Given the description of an element on the screen output the (x, y) to click on. 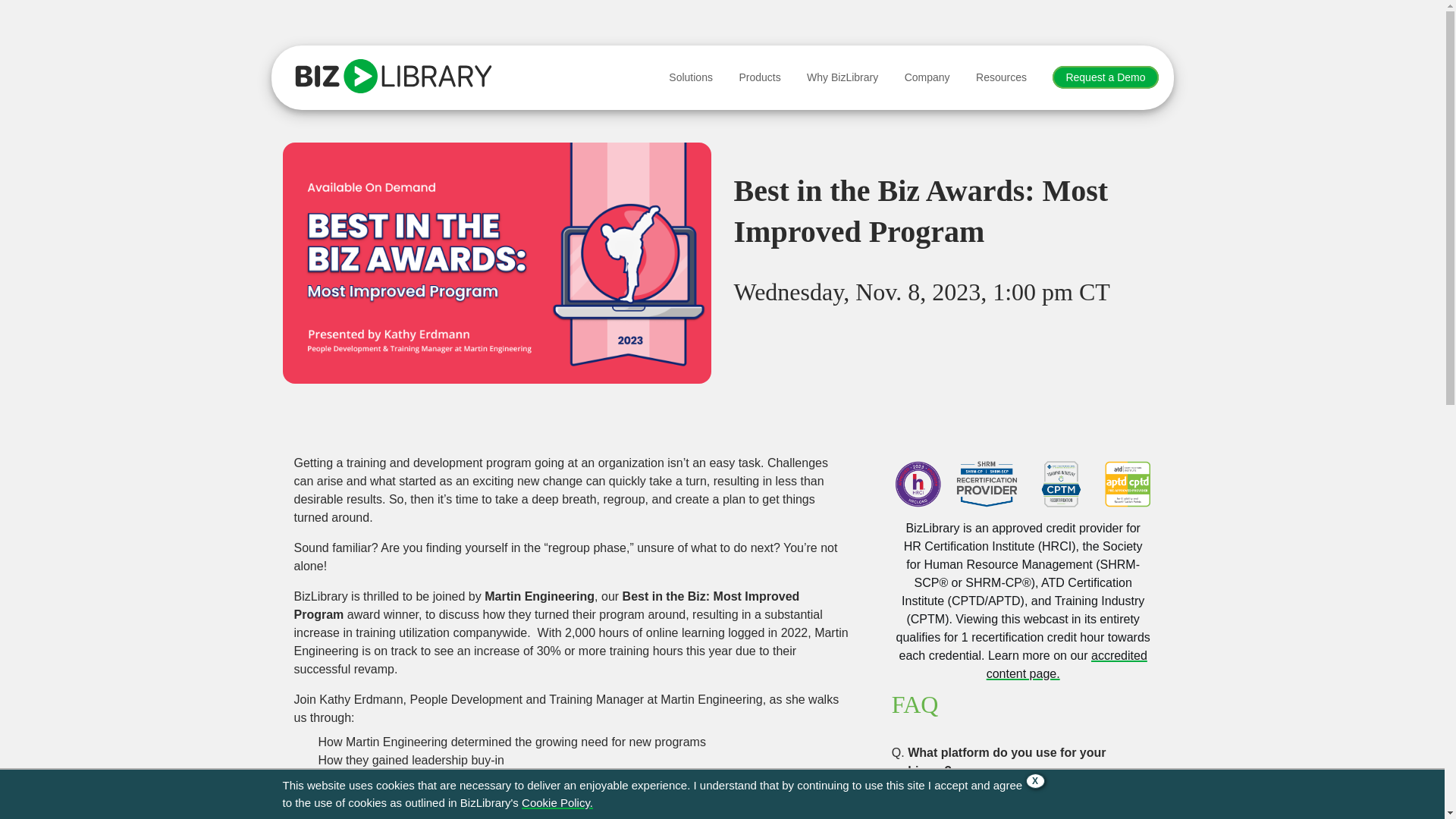
Products (759, 77)
Solutions (690, 77)
Why BizLibrary (842, 77)
